Given the description of an element on the screen output the (x, y) to click on. 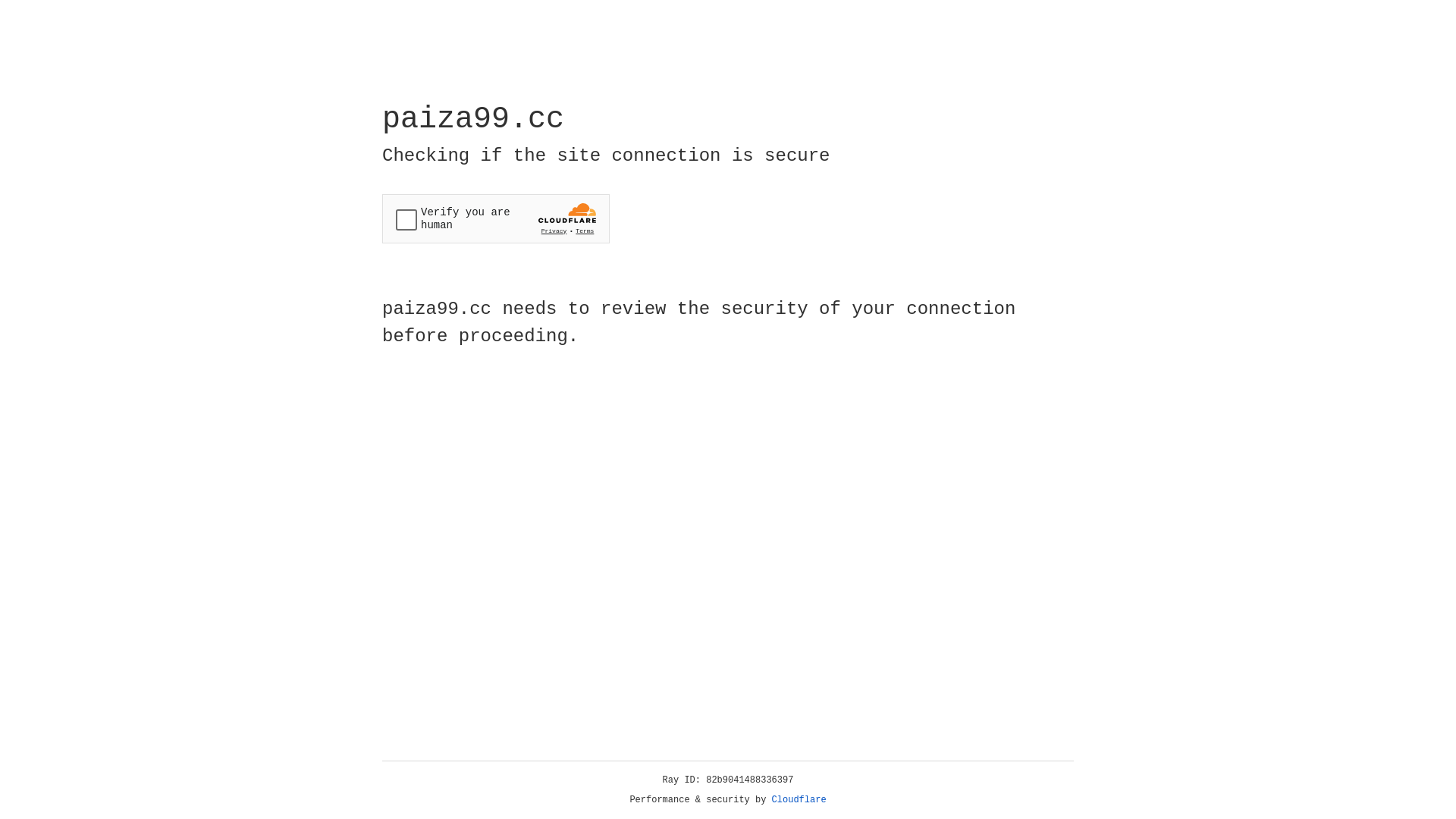
Cloudflare Element type: text (798, 799)
Widget containing a Cloudflare security challenge Element type: hover (495, 218)
